Given the description of an element on the screen output the (x, y) to click on. 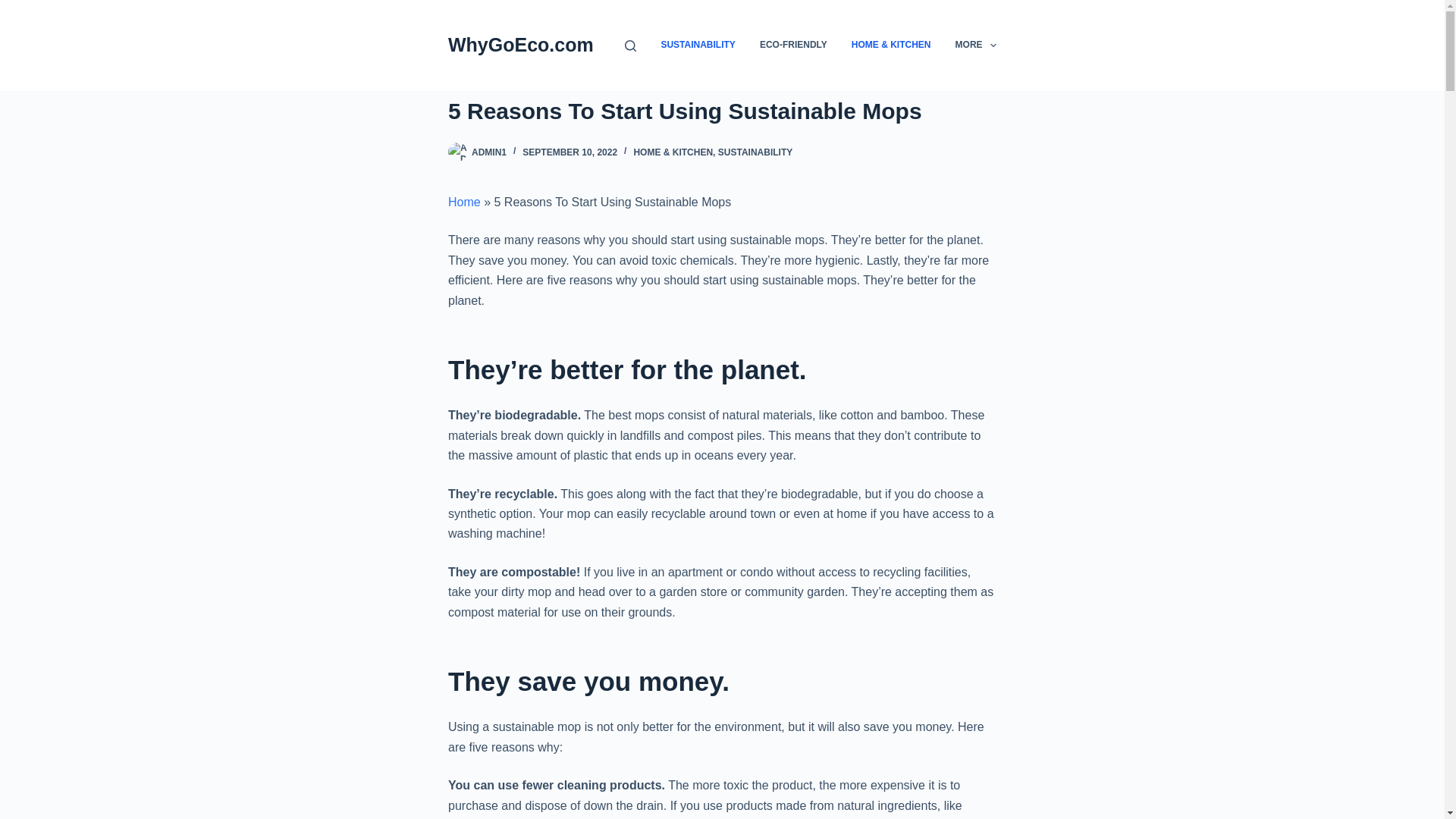
Home (464, 201)
5 Reasons To Start Using Sustainable Mops (721, 110)
Posts by admin1 (488, 152)
Skip to content (15, 7)
SUSTAINABILITY (754, 152)
ECO-FRIENDLY (792, 45)
ADMIN1 (488, 152)
SUSTAINABILITY (697, 45)
WhyGoEco.com (521, 44)
